Given the description of an element on the screen output the (x, y) to click on. 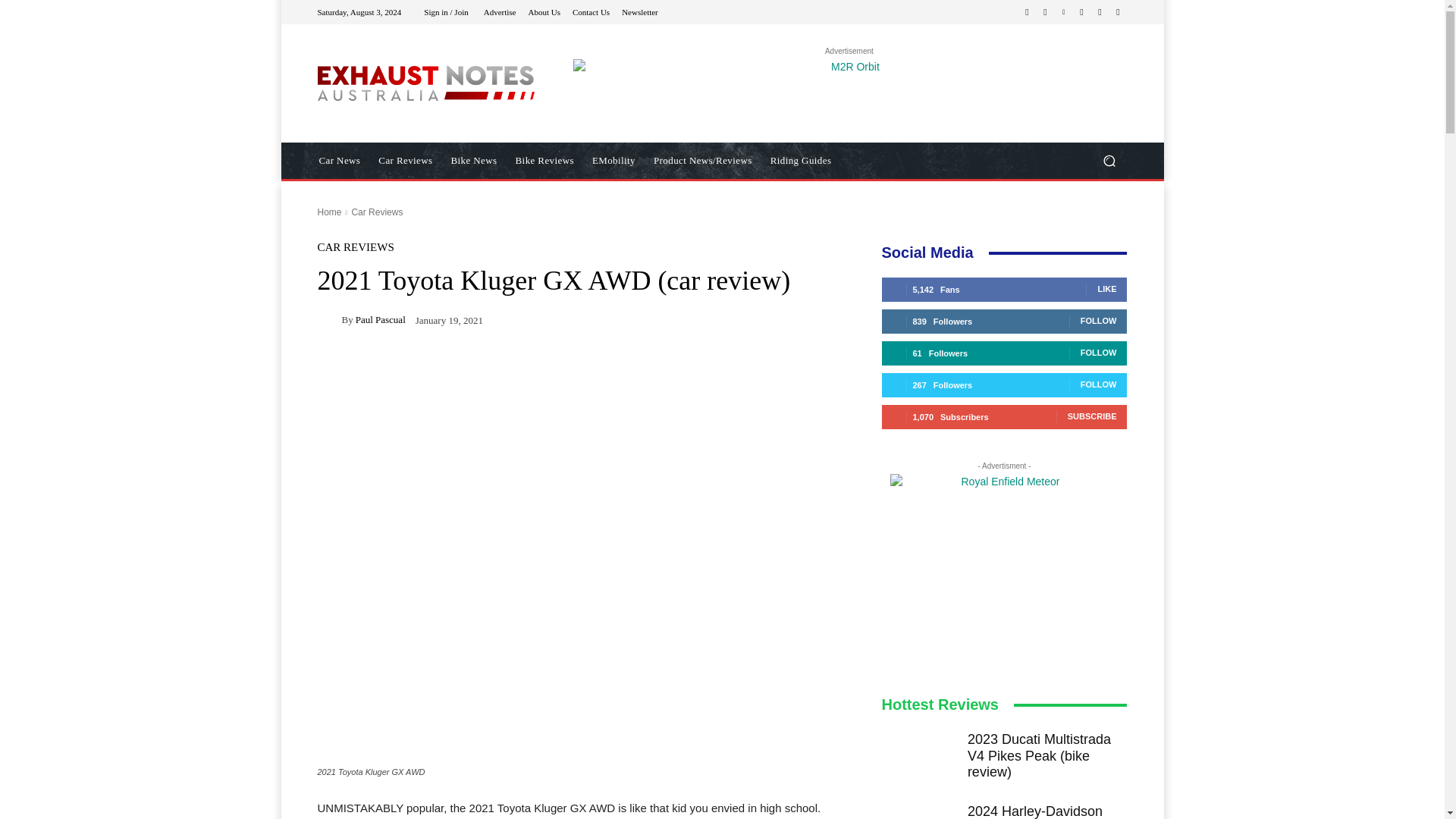
Car Reviews (405, 160)
Youtube (1117, 12)
Twitter (1099, 12)
Instagram (1044, 12)
Home (328, 212)
CAR REVIEWS (355, 247)
EMobility (614, 160)
Contact Us (591, 11)
Facebook (1026, 12)
Car Reviews (376, 212)
Riding Guides (801, 160)
Car News (338, 160)
Bike News (474, 160)
Linkedin (1062, 12)
Bike Reviews (544, 160)
